Given the description of an element on the screen output the (x, y) to click on. 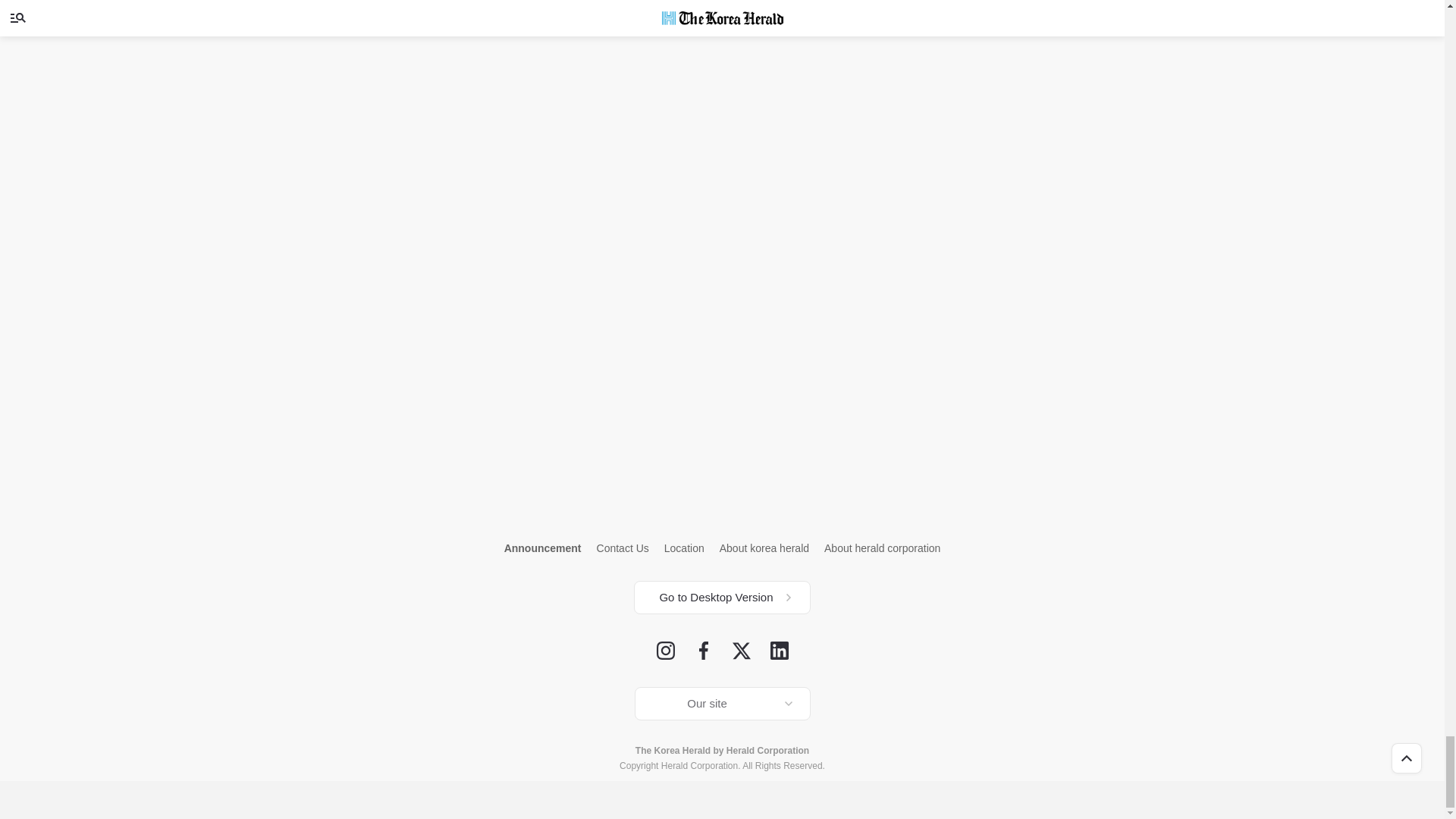
Instagram (665, 650)
Twitter (741, 650)
Facebook (703, 650)
LinkedIn (779, 650)
